Given the description of an element on the screen output the (x, y) to click on. 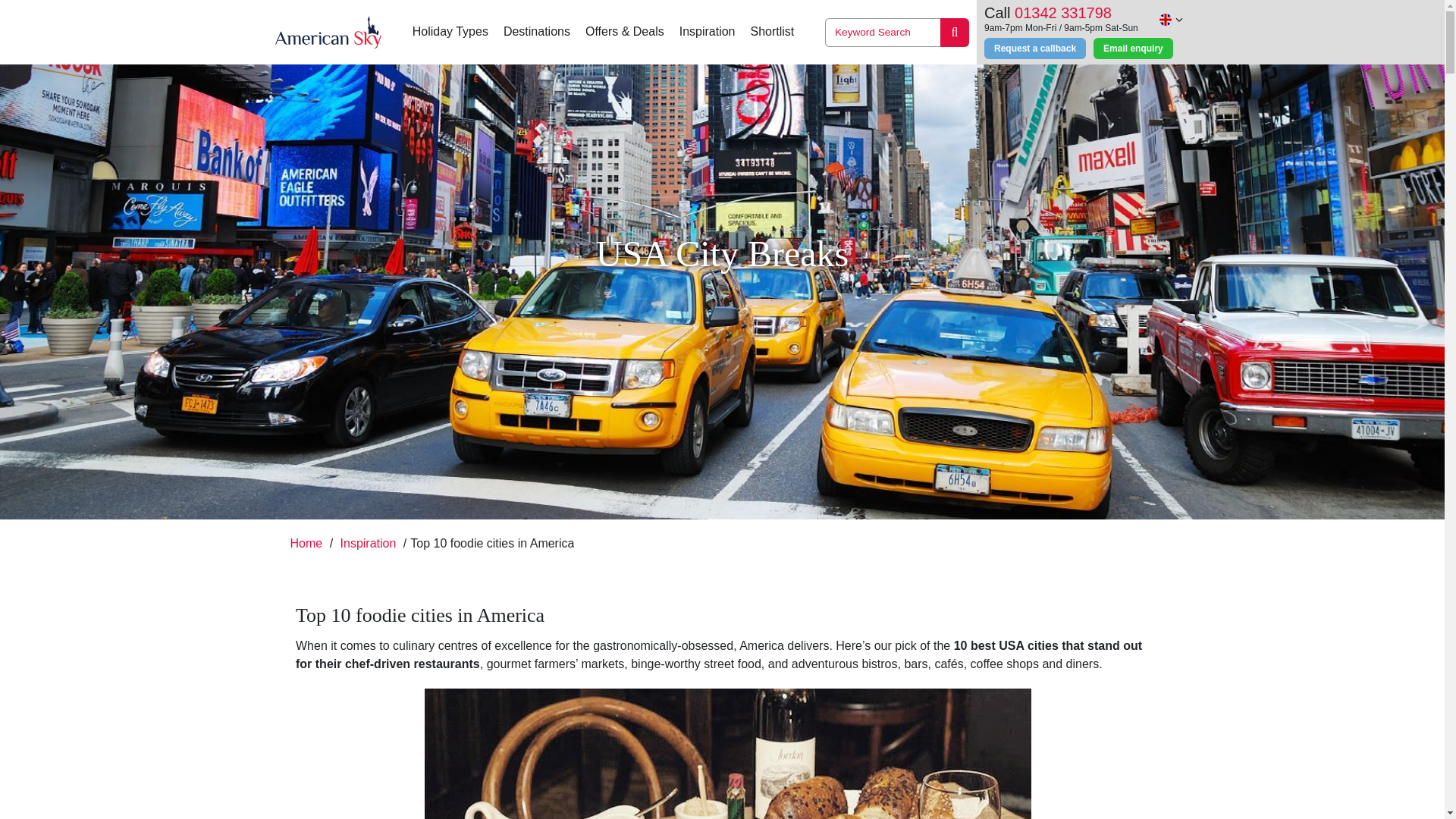
Destinations (537, 32)
Holiday Types (450, 32)
American Sky (328, 31)
